Given the description of an element on the screen output the (x, y) to click on. 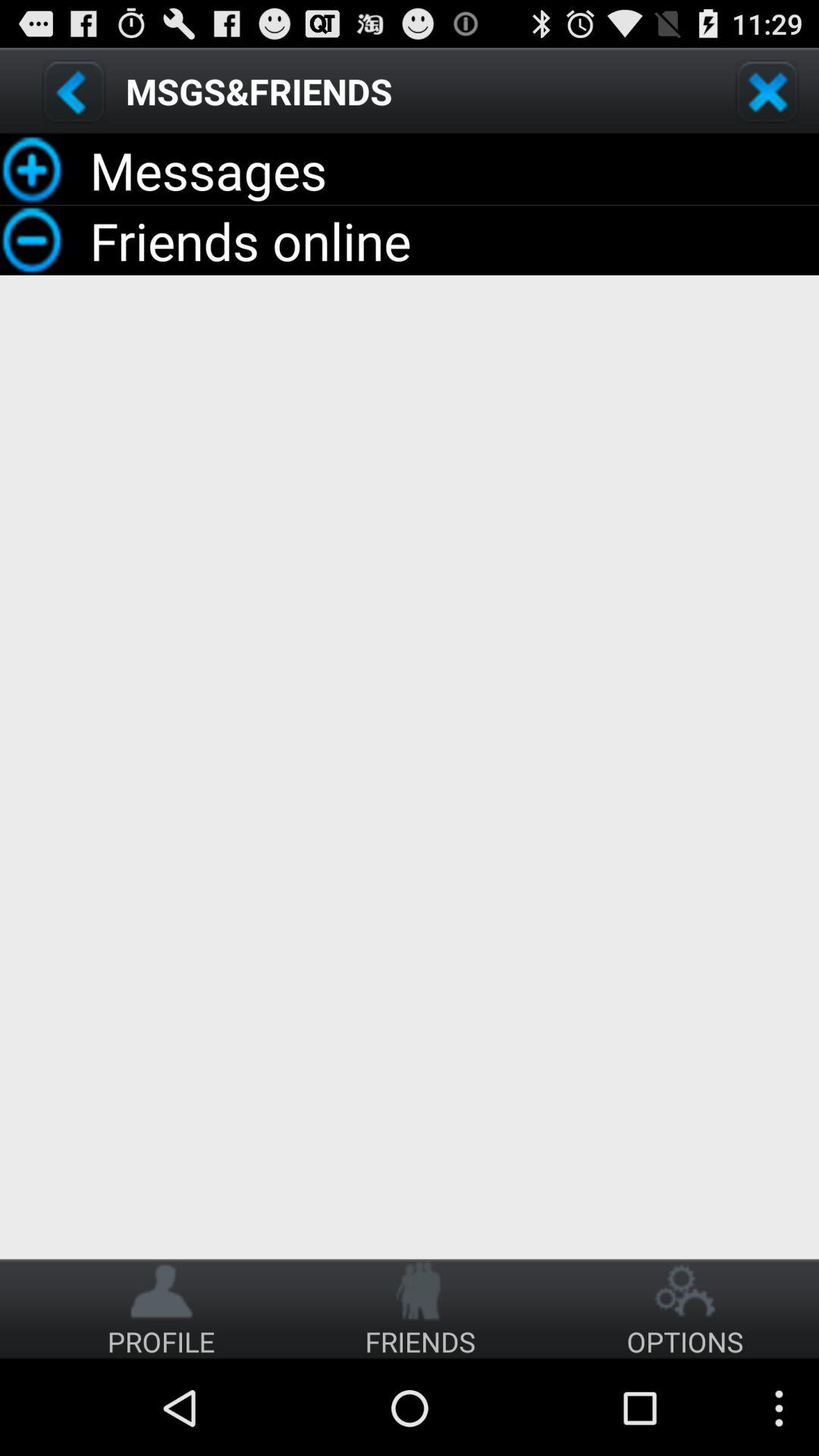
toggle close option (767, 91)
